Given the description of an element on the screen output the (x, y) to click on. 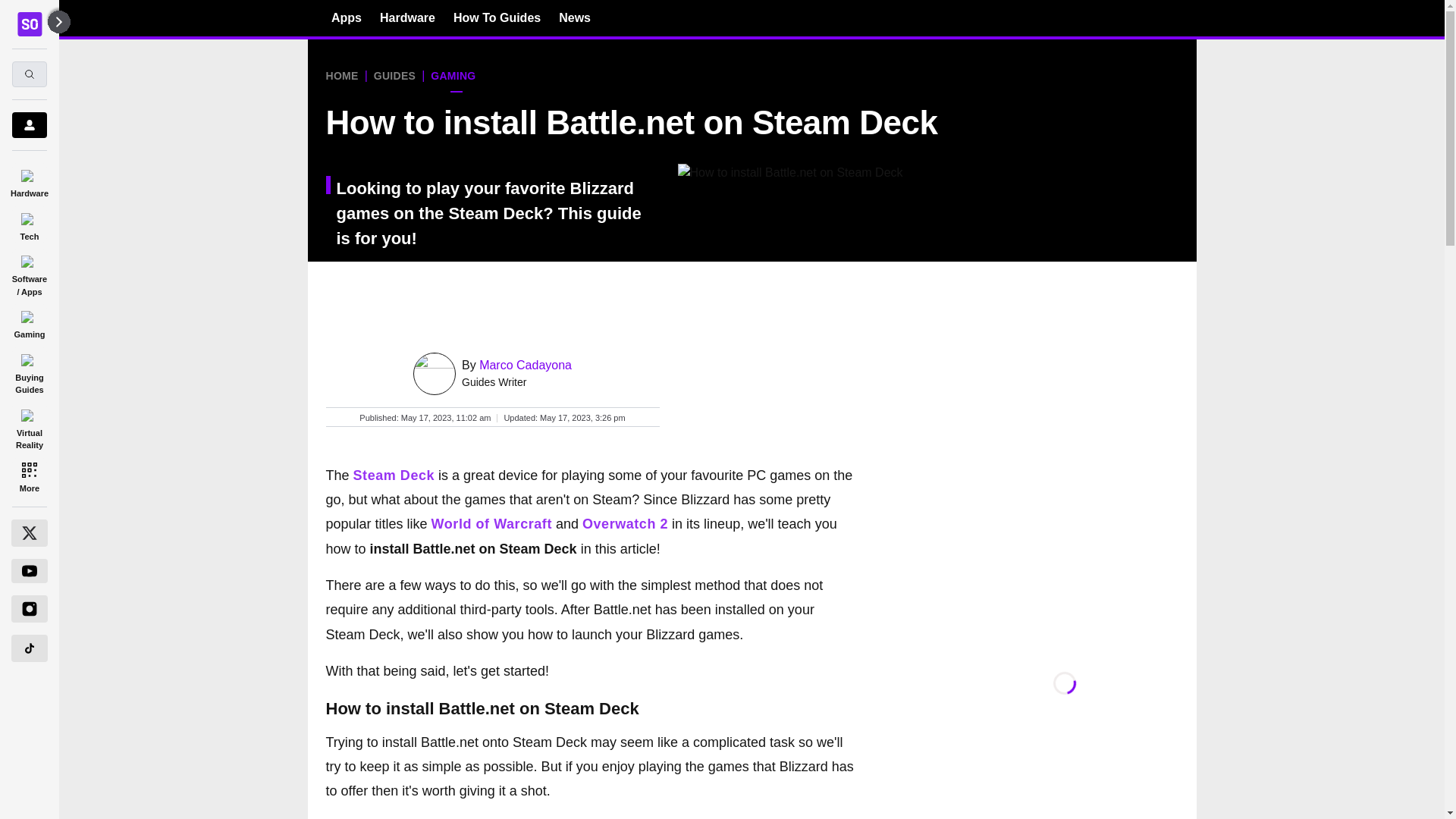
Gaming (28, 322)
Tech (28, 224)
How To Guides (496, 18)
More (28, 476)
Hardware (407, 18)
Apps (346, 18)
News (575, 18)
Hardware (28, 180)
